Given the description of an element on the screen output the (x, y) to click on. 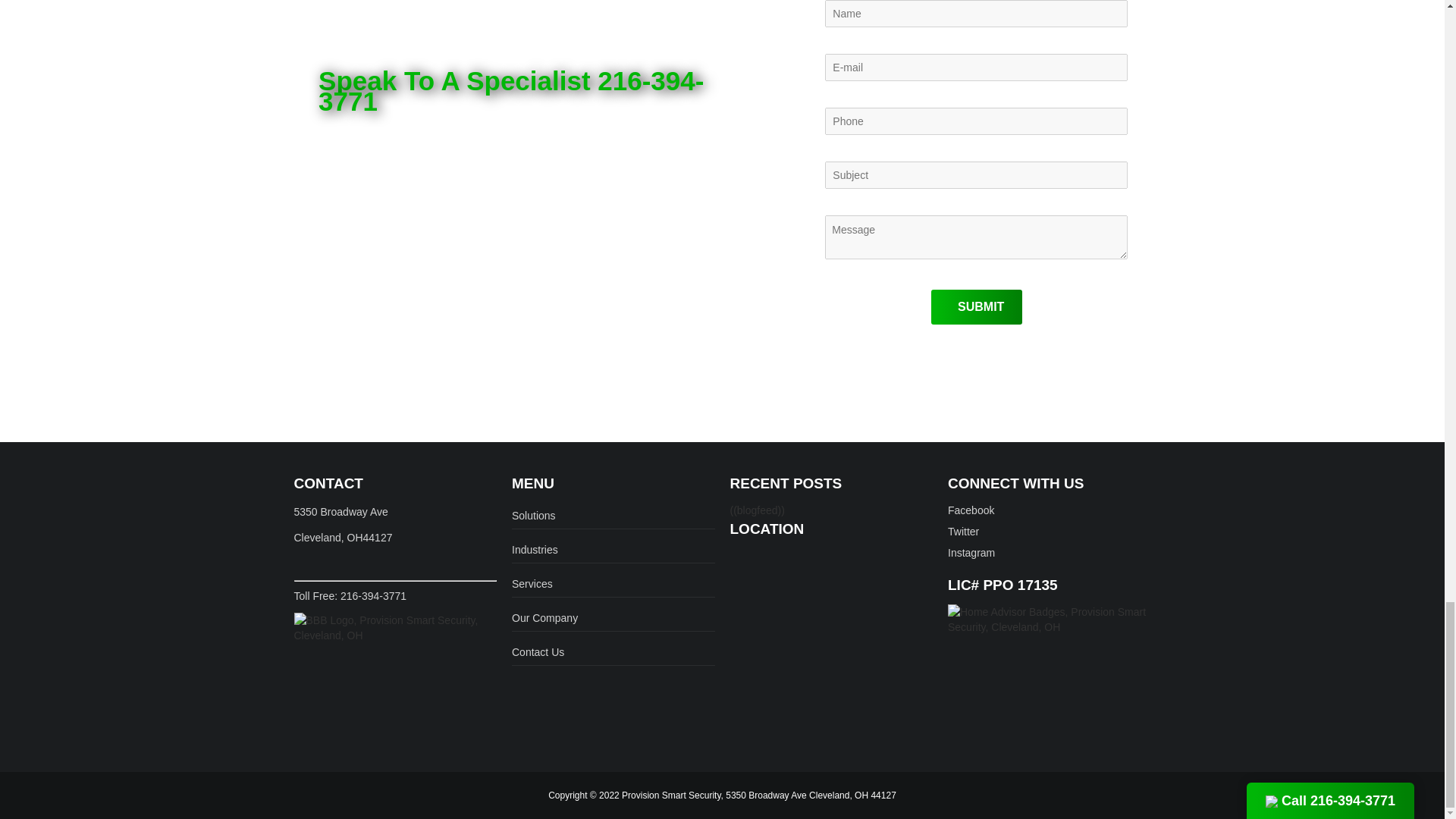
Submit (976, 306)
